Given the description of an element on the screen output the (x, y) to click on. 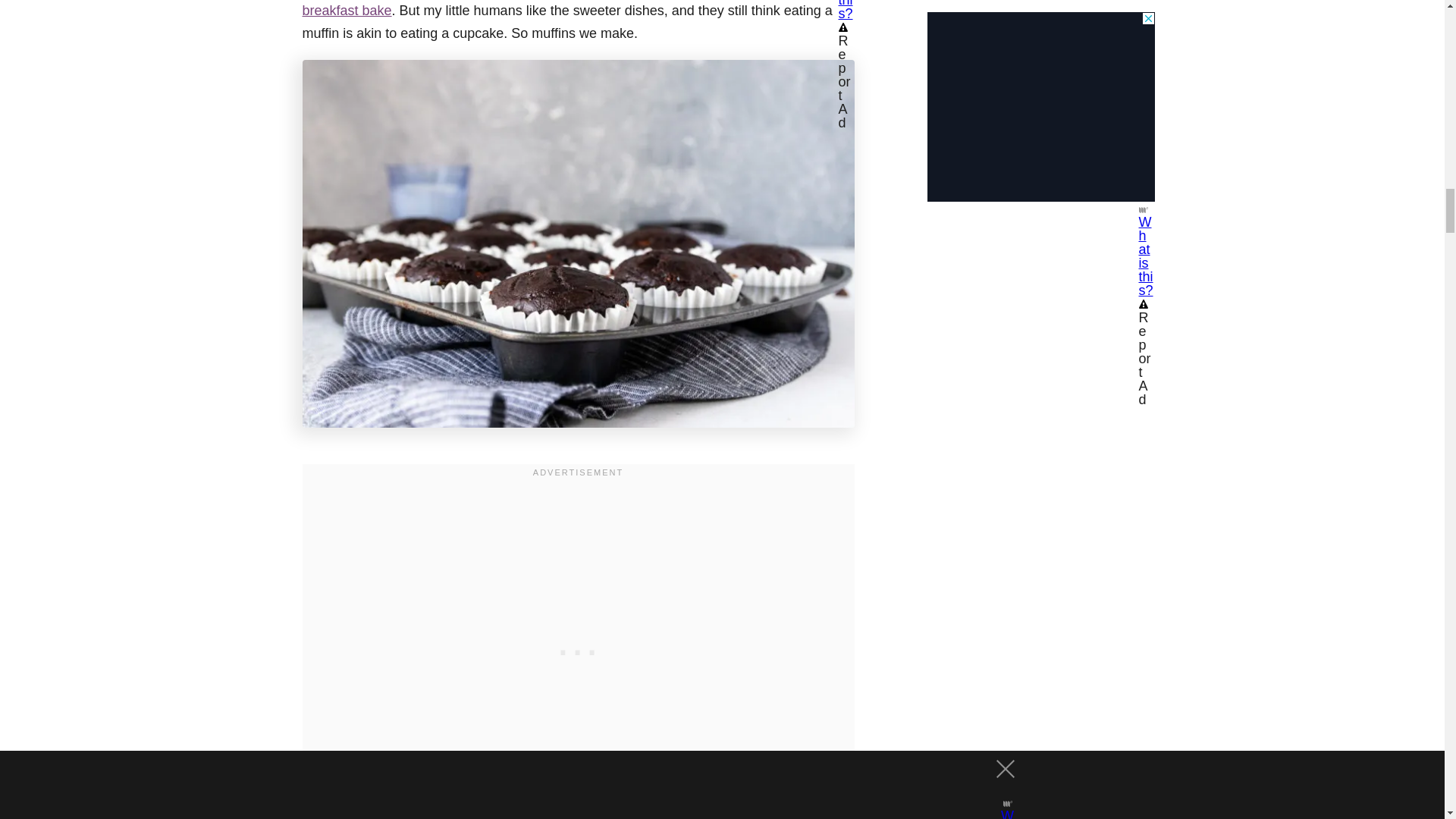
low carb breakfast bake (562, 9)
